Given the description of an element on the screen output the (x, y) to click on. 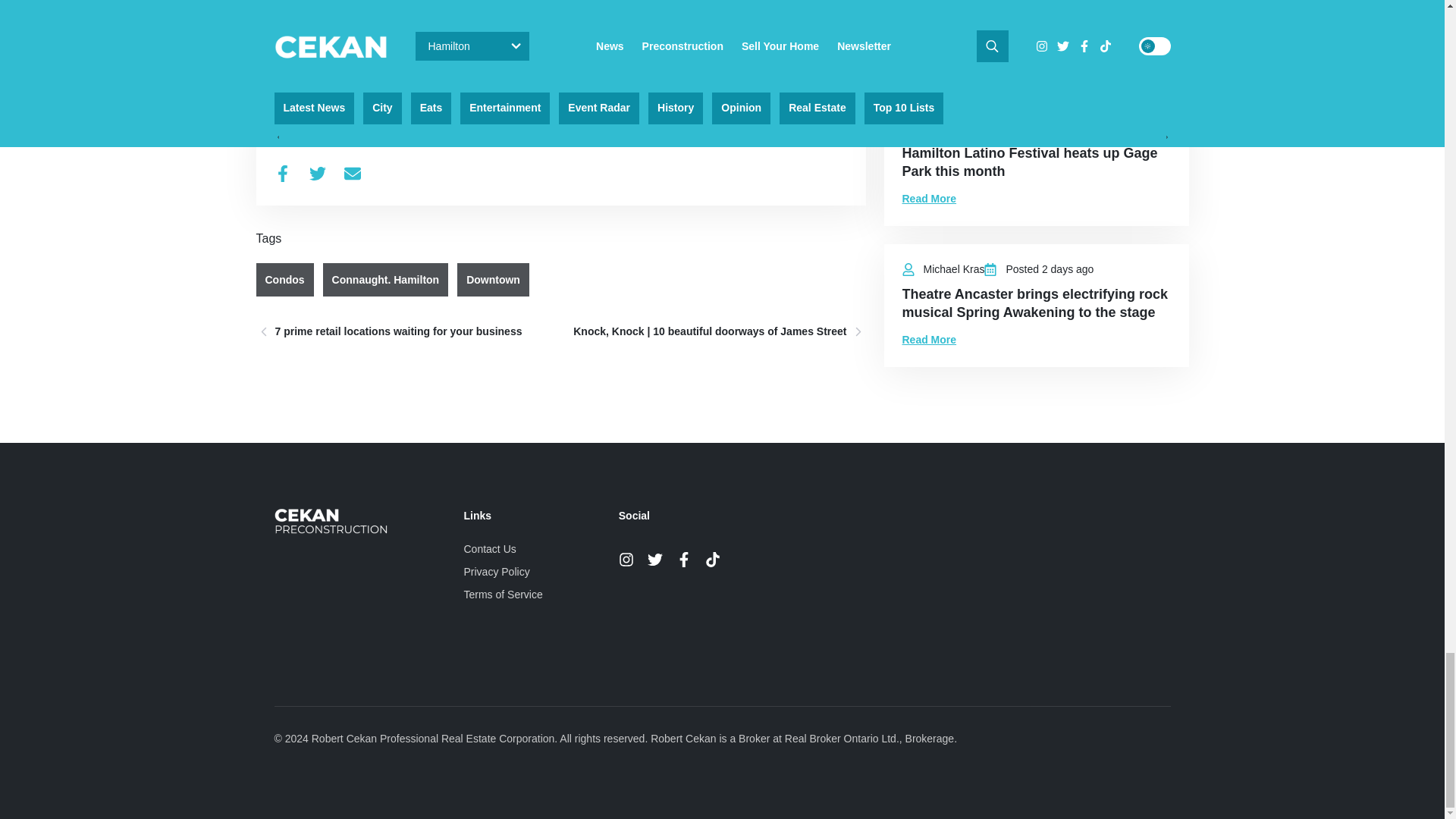
Downtown (493, 279)
Condos (285, 279)
7 prime retail locations waiting for your business (403, 331)
Connaught. Hamilton (385, 279)
Post a comment (315, 64)
